Given the description of an element on the screen output the (x, y) to click on. 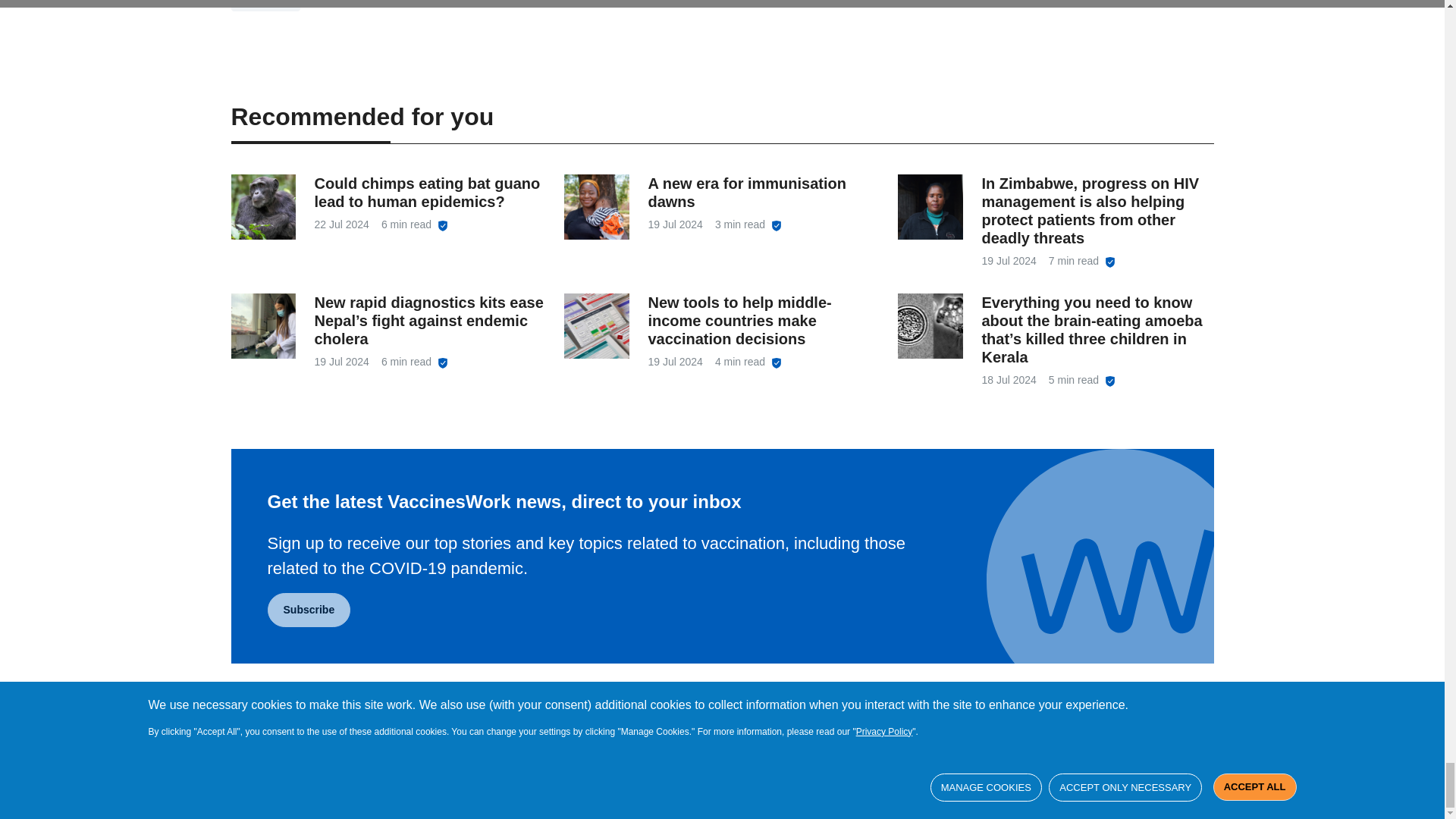
verified (1110, 262)
verified (776, 362)
verified (443, 225)
verified (1110, 380)
verified (443, 362)
verified (776, 225)
